Given the description of an element on the screen output the (x, y) to click on. 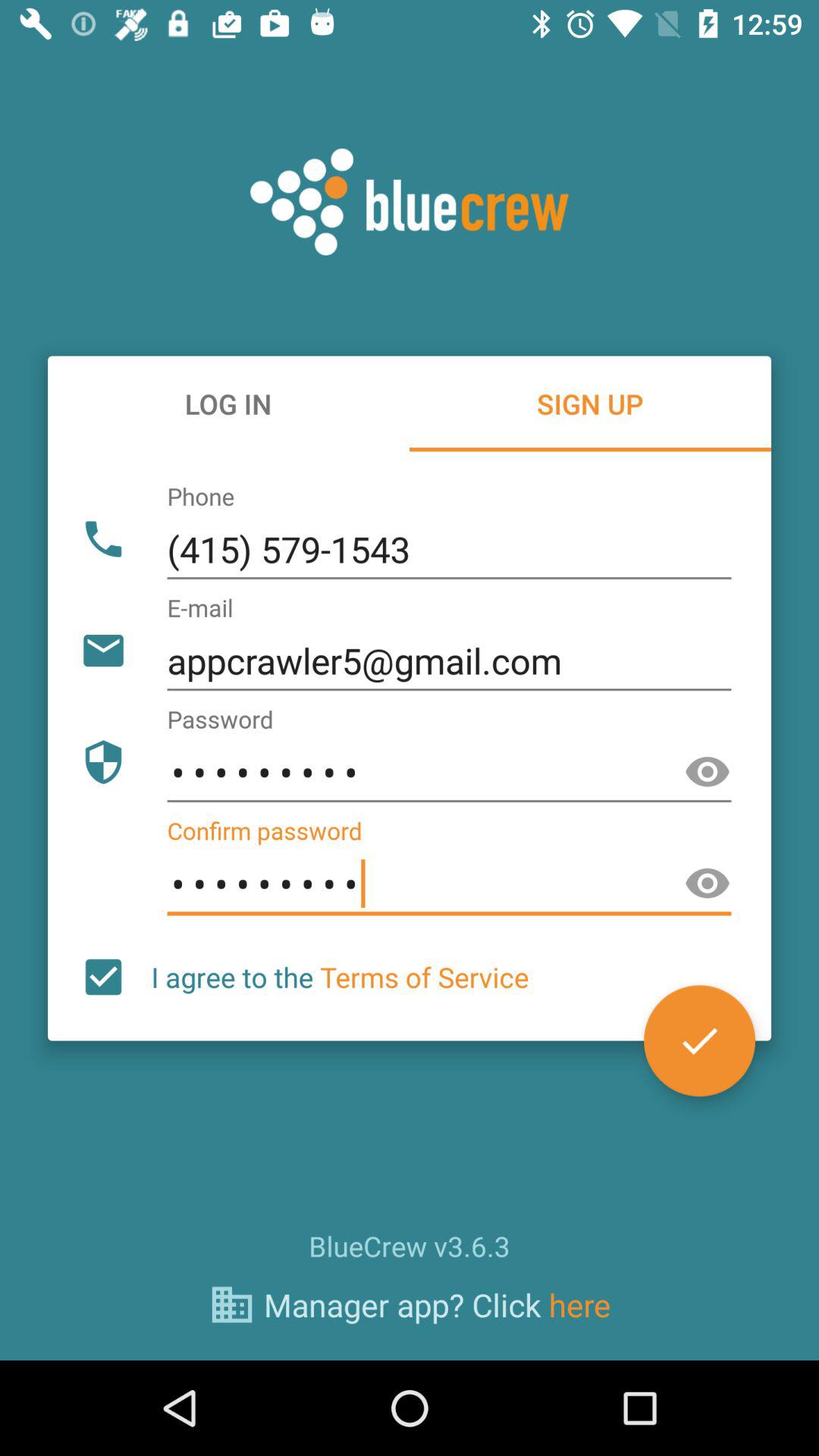
flip until the i agree to icon (339, 976)
